Given the description of an element on the screen output the (x, y) to click on. 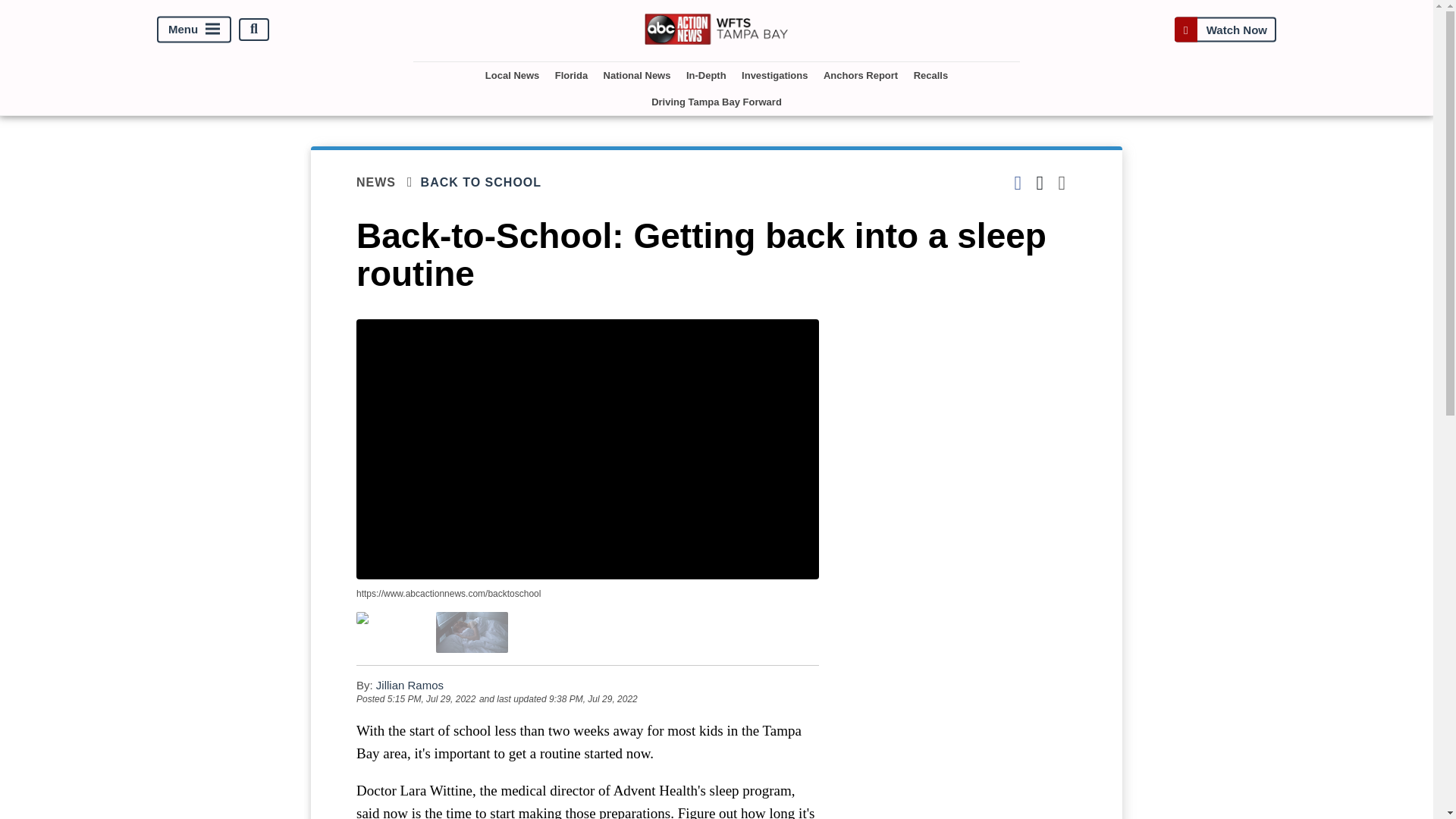
Menu (194, 28)
Watch Now (1224, 29)
